Given the description of an element on the screen output the (x, y) to click on. 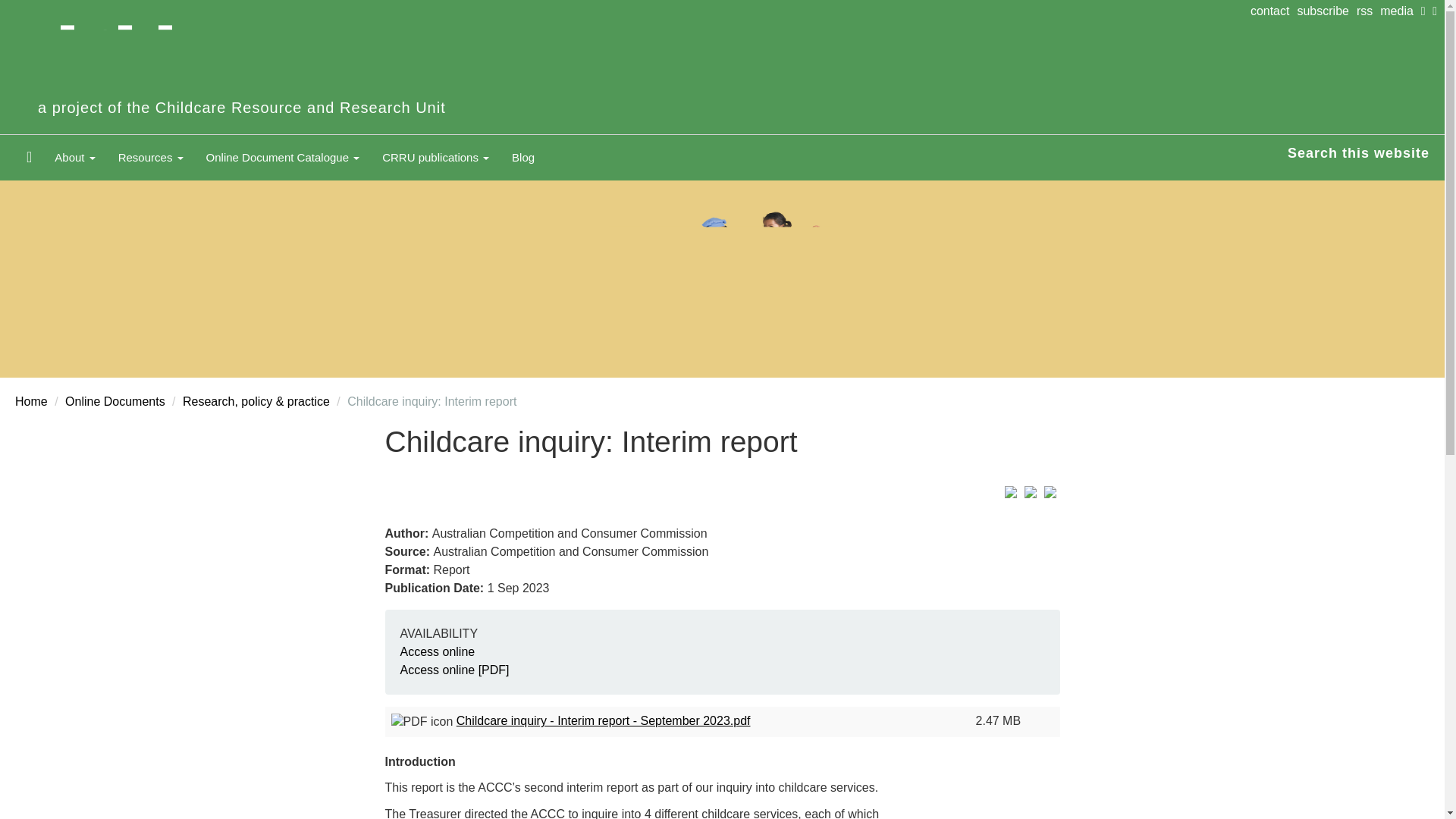
Contact the Childcare Resource and Research Unit (1273, 11)
subscribe (1326, 11)
Resources (150, 157)
About (74, 157)
Browse key CRRU resource areas (150, 157)
contact (1273, 11)
Resources for media, including media releases (1400, 11)
Link to email newsletter subscription form. (1326, 11)
Online Document Catalogue (283, 157)
